Given the description of an element on the screen output the (x, y) to click on. 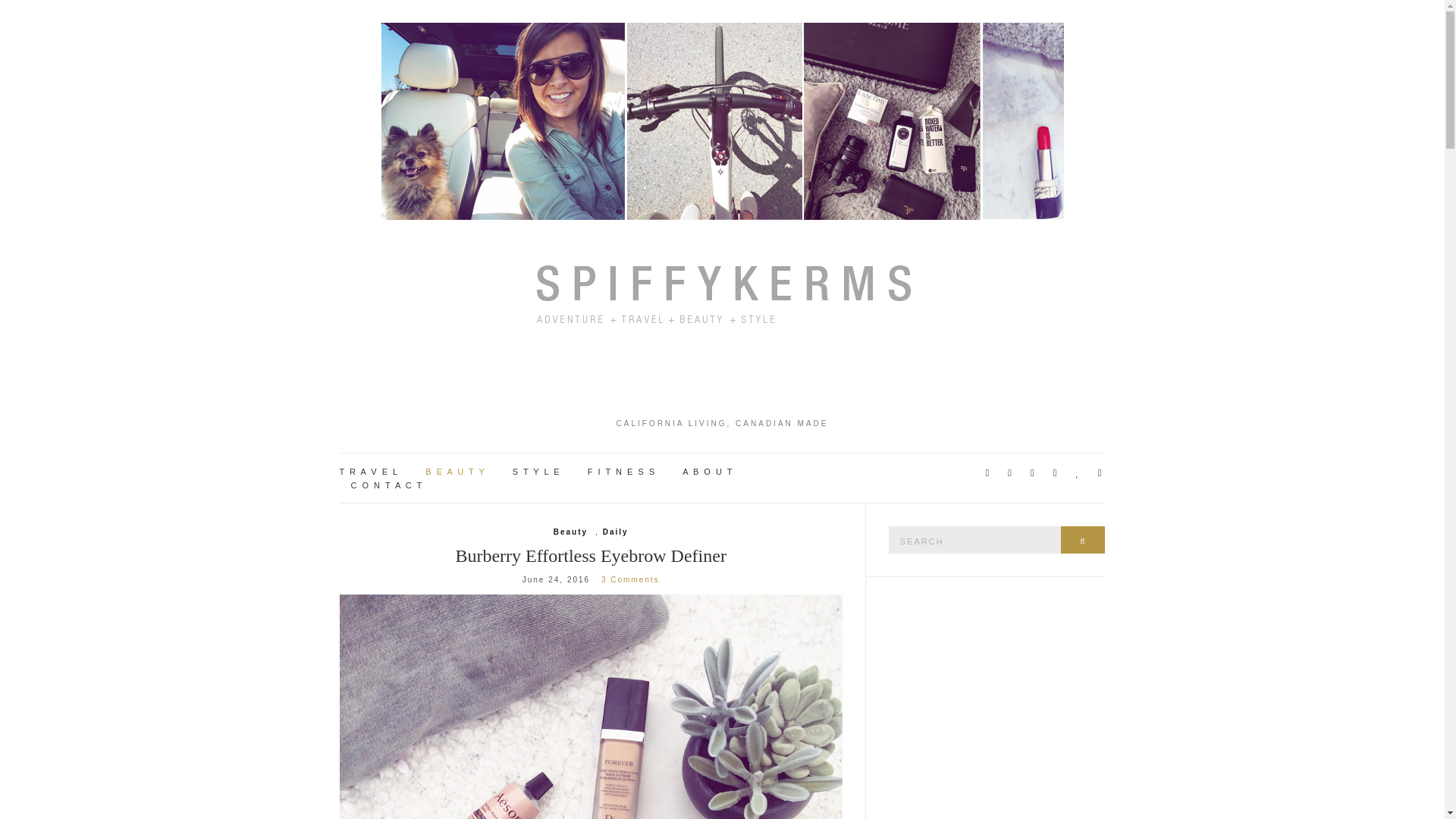
C O N T A C T (386, 486)
F I T N E S S (622, 472)
S T Y L E (536, 472)
T R A V E L (368, 472)
3 Comments (630, 579)
A B O U T (707, 472)
B E A U T Y (454, 472)
Daily (615, 532)
Beauty (570, 532)
